Given the description of an element on the screen output the (x, y) to click on. 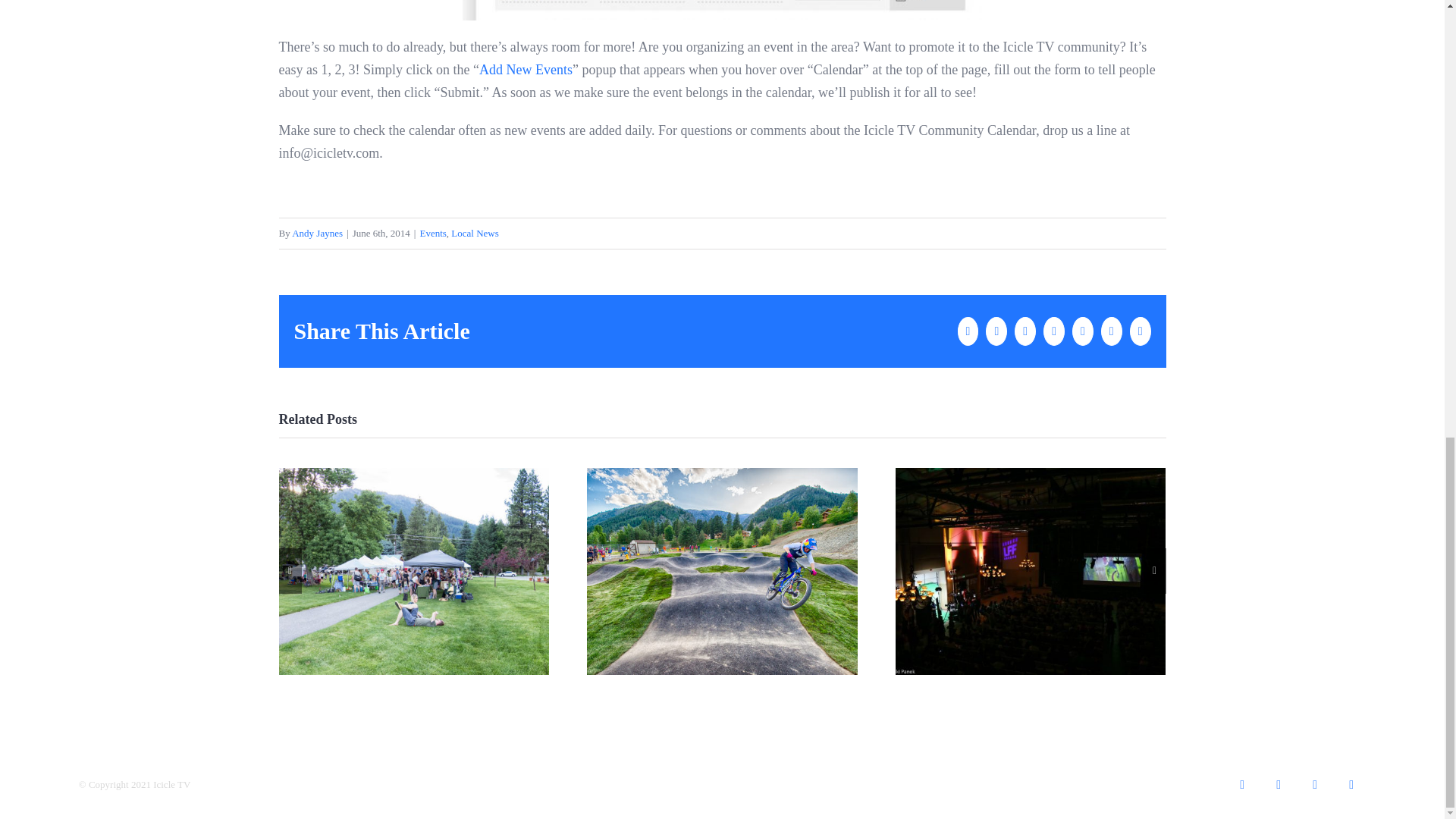
Andy Jaynes (317, 233)
Posts by Andy Jaynes (317, 233)
Events (432, 233)
Add New Events (525, 69)
Local News (474, 233)
